Given the description of an element on the screen output the (x, y) to click on. 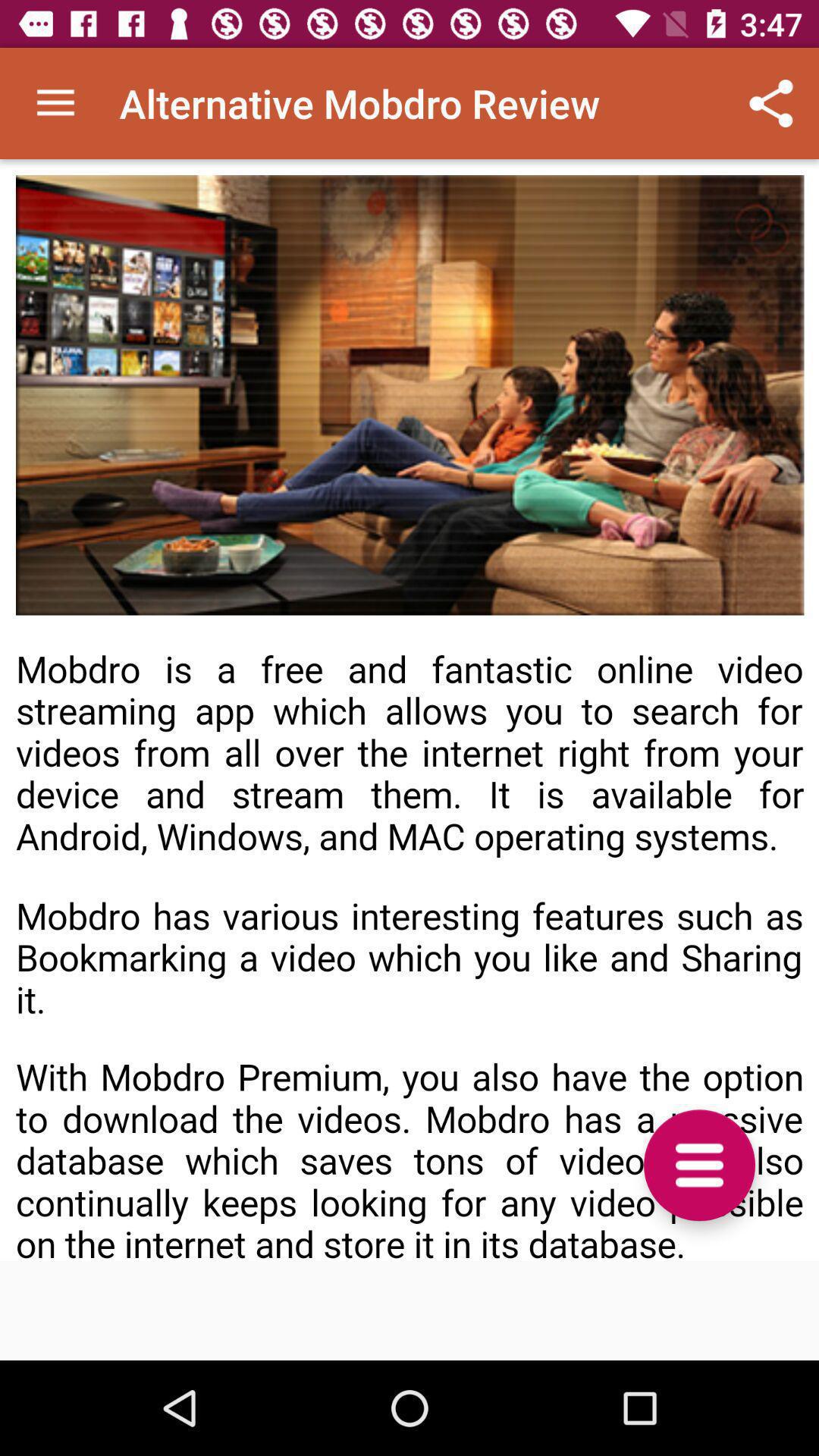
view menu (699, 1165)
